Given the description of an element on the screen output the (x, y) to click on. 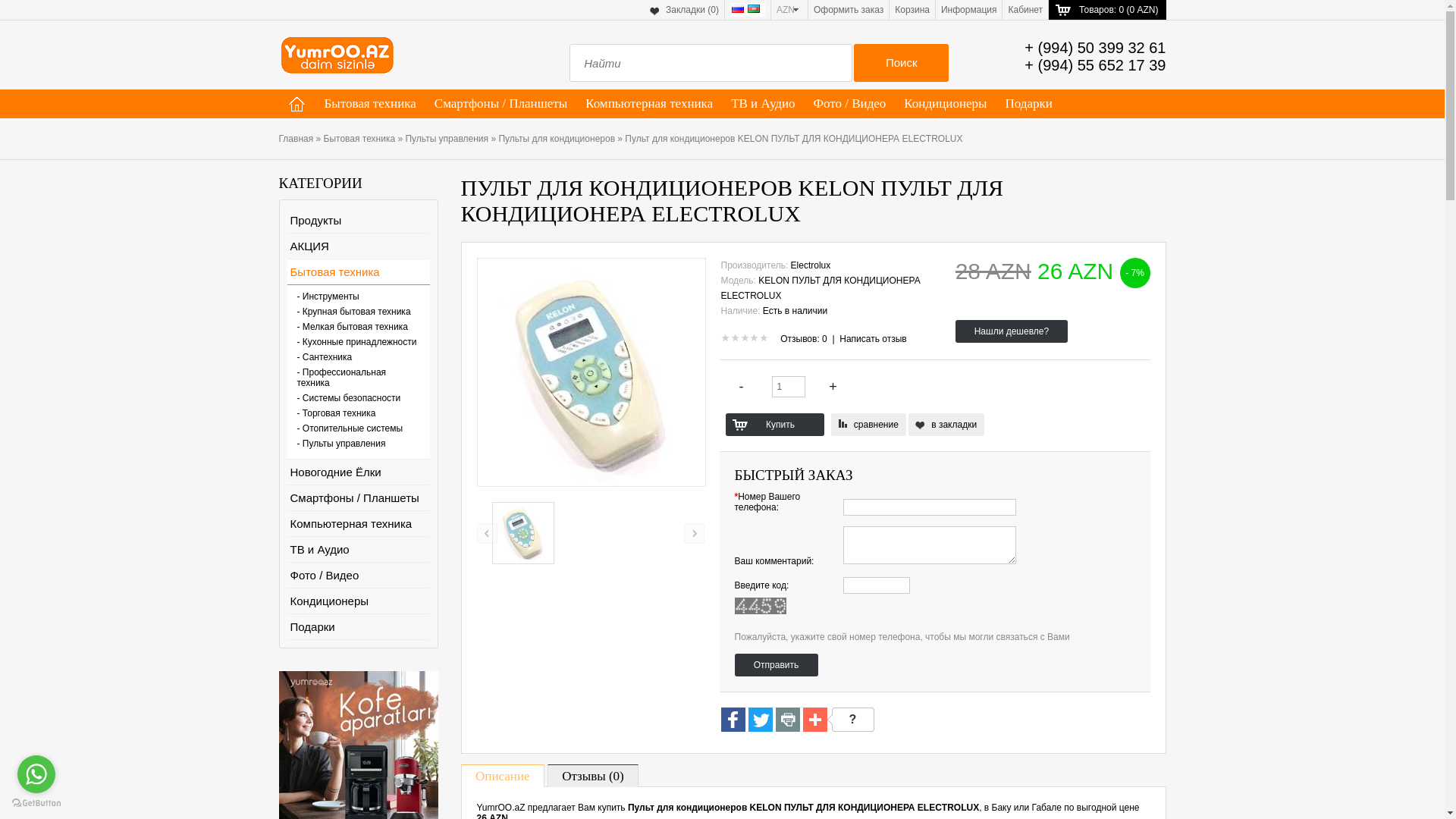
azerbaijani Element type: hover (753, 8)
? Element type: text (849, 719)
Twitter Element type: hover (759, 720)
Facebook Element type: hover (732, 720)
Twitter Element type: hover (759, 719)
More Element type: hover (814, 719)
Print Element type: hover (787, 719)
Electrolux Element type: text (810, 265)
Russian Element type: hover (737, 8)
right Element type: text (694, 533)
left Element type: text (486, 533)
Facebook Element type: hover (732, 719)
? Element type: text (852, 719)
Print Element type: hover (786, 720)
